Given the description of an element on the screen output the (x, y) to click on. 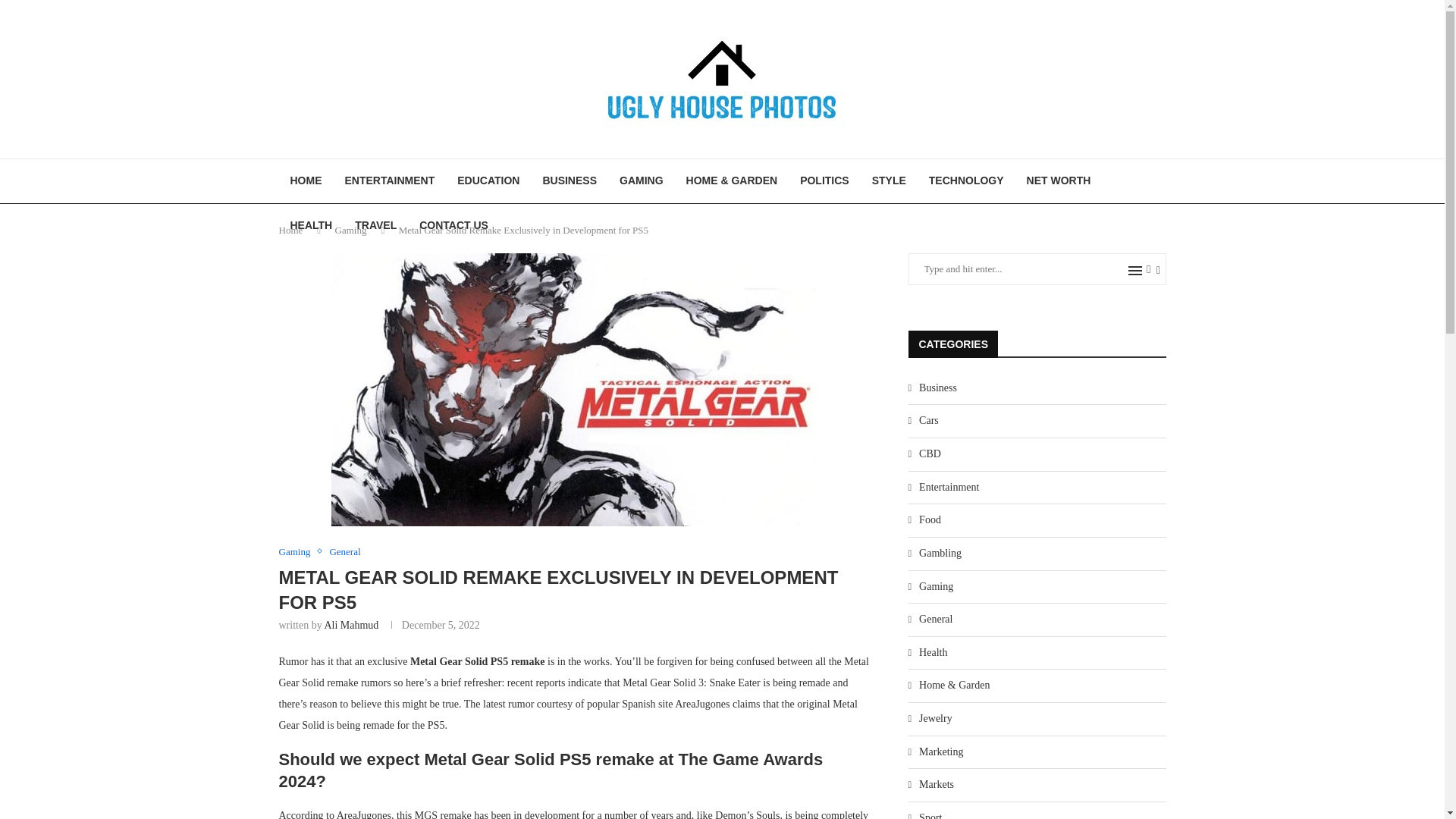
CONTACT US (453, 225)
ENTERTAINMENT (389, 180)
HEALTH (311, 225)
POLITICS (824, 180)
STYLE (888, 180)
Ali Mahmud (350, 624)
TRAVEL (375, 225)
GAMING (641, 180)
General (344, 551)
metal-gear-solid-ps5-remake.jpg (573, 389)
